Given the description of an element on the screen output the (x, y) to click on. 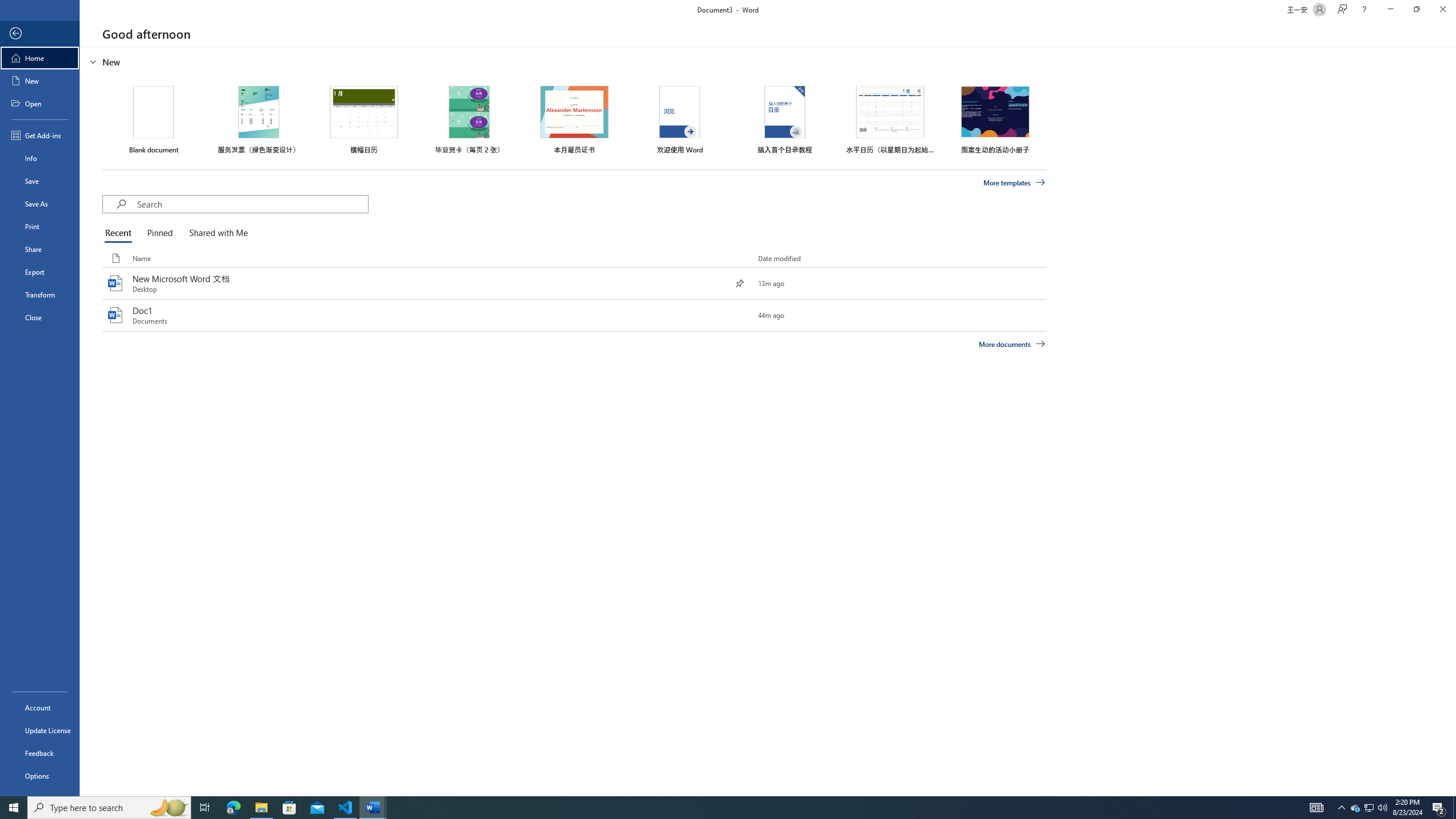
Hide or show region (92, 61)
Get Add-ins (40, 134)
Save As (40, 203)
Doc1 (573, 315)
Account (40, 707)
Feedback (40, 753)
Update License (40, 730)
Export (40, 271)
Transform (40, 294)
Pin this item to the list (739, 314)
